Given the description of an element on the screen output the (x, y) to click on. 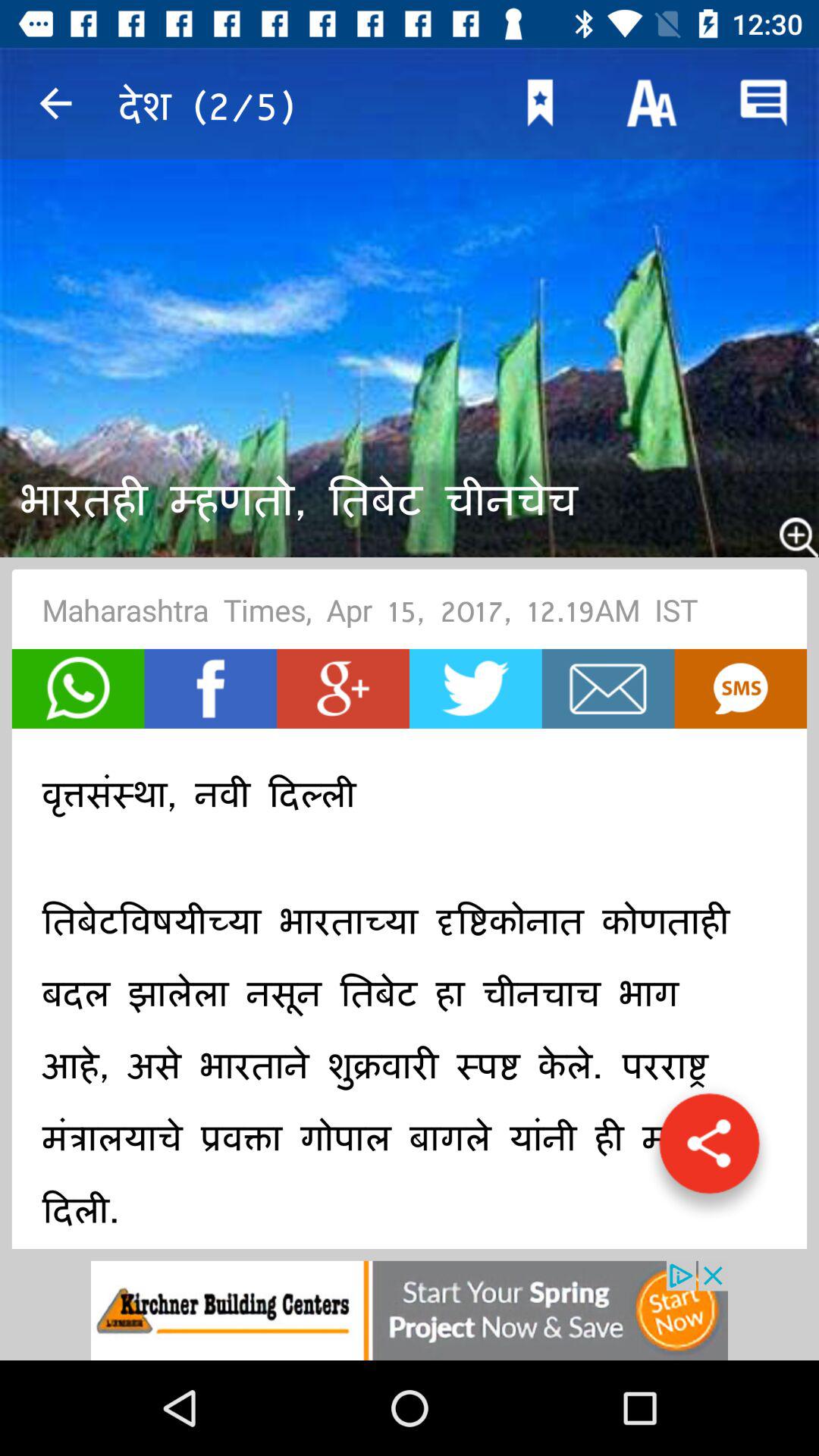
open twitter page (475, 688)
